Given the description of an element on the screen output the (x, y) to click on. 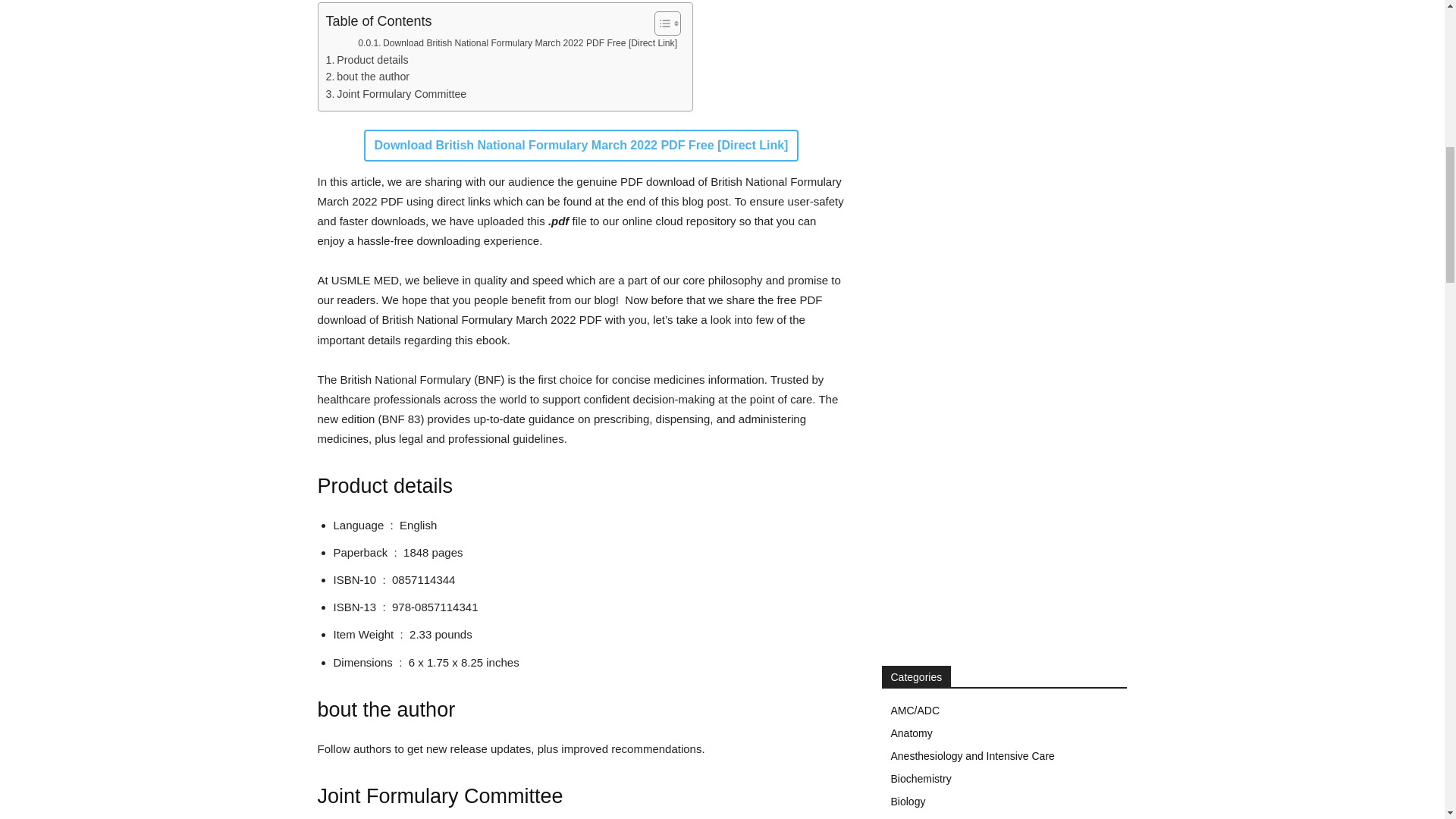
Joint Formulary Committee (396, 94)
Joint Formulary Committee (396, 94)
bout the author (368, 76)
bout the author (368, 76)
Product details (367, 59)
Product details (367, 59)
